Given the description of an element on the screen output the (x, y) to click on. 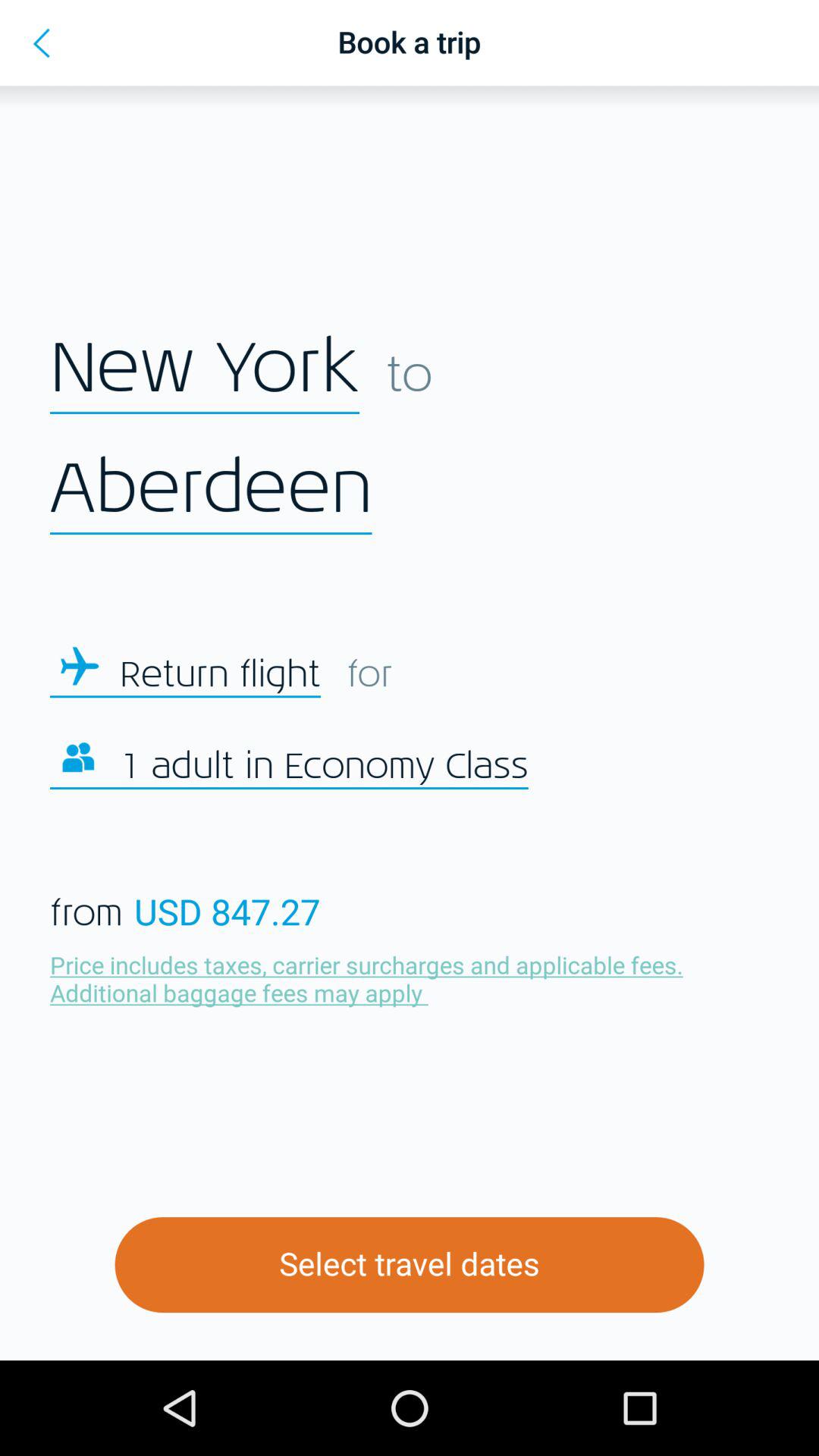
open icon below return flight icon (324, 766)
